Given the description of an element on the screen output the (x, y) to click on. 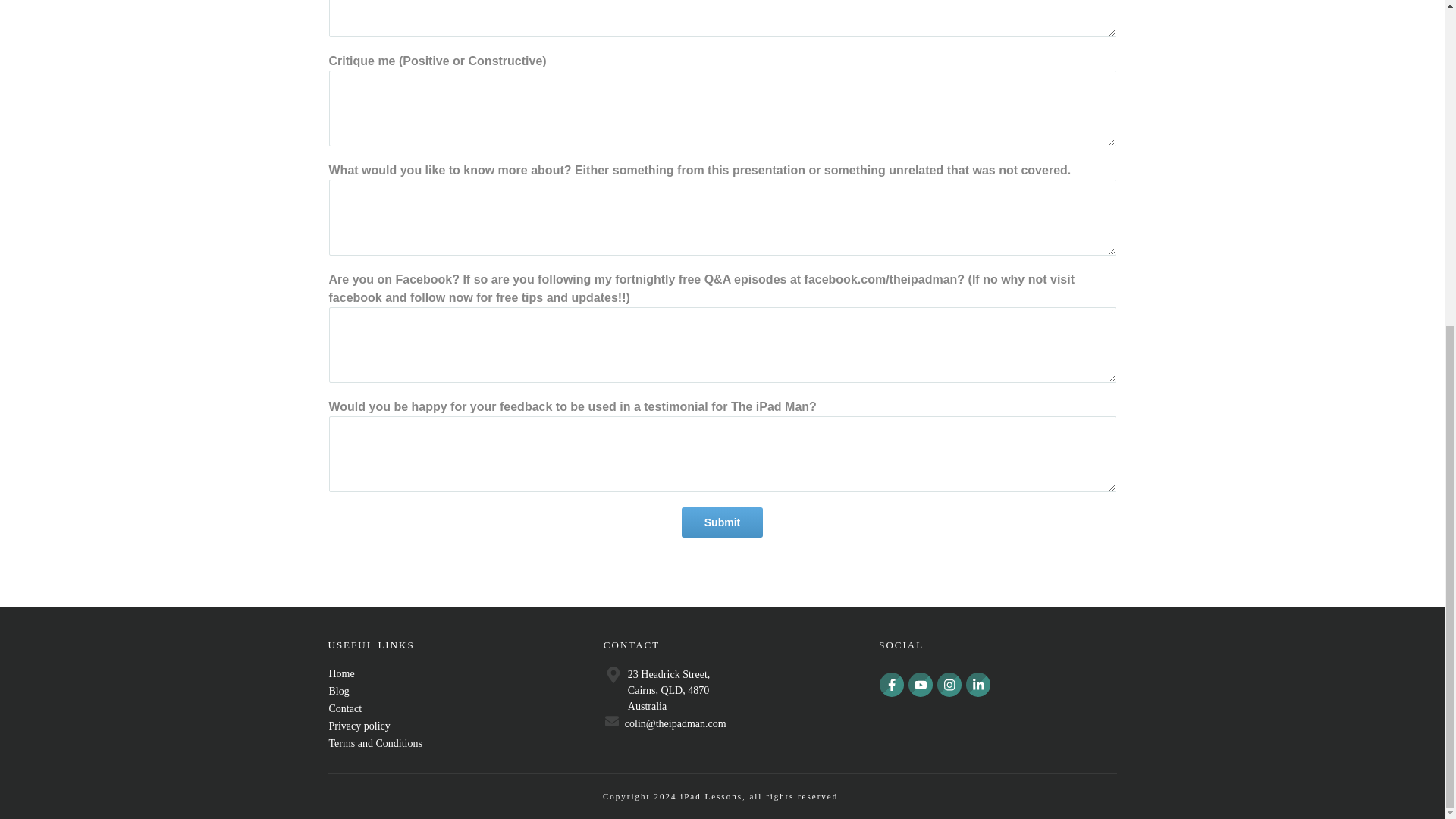
Submit (721, 521)
Terms and Conditions (375, 743)
Privacy policy (359, 726)
Home (342, 673)
Blog (339, 690)
Contact (345, 708)
